Given the description of an element on the screen output the (x, y) to click on. 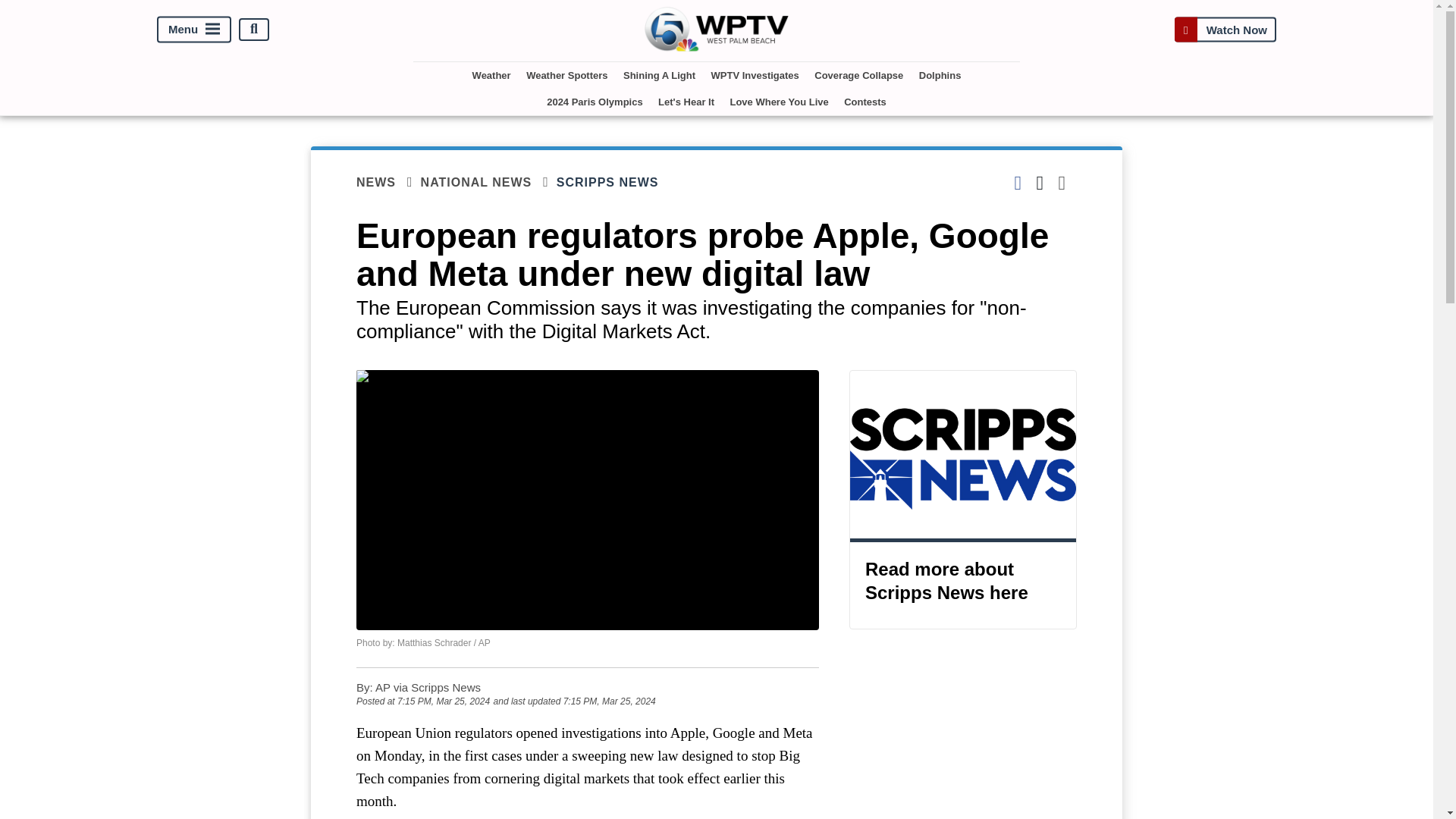
Watch Now (1224, 29)
Menu (194, 28)
